Given the description of an element on the screen output the (x, y) to click on. 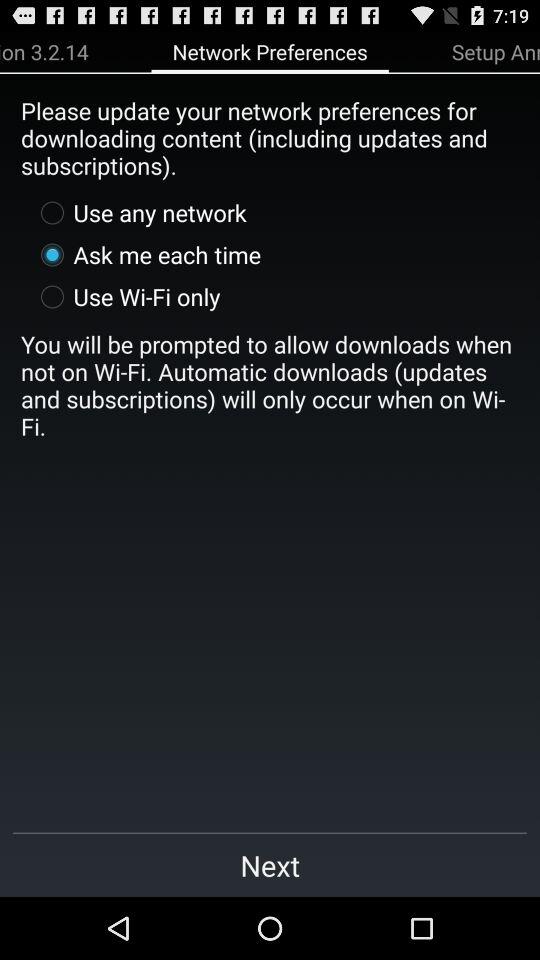
open the use any network (138, 212)
